Given the description of an element on the screen output the (x, y) to click on. 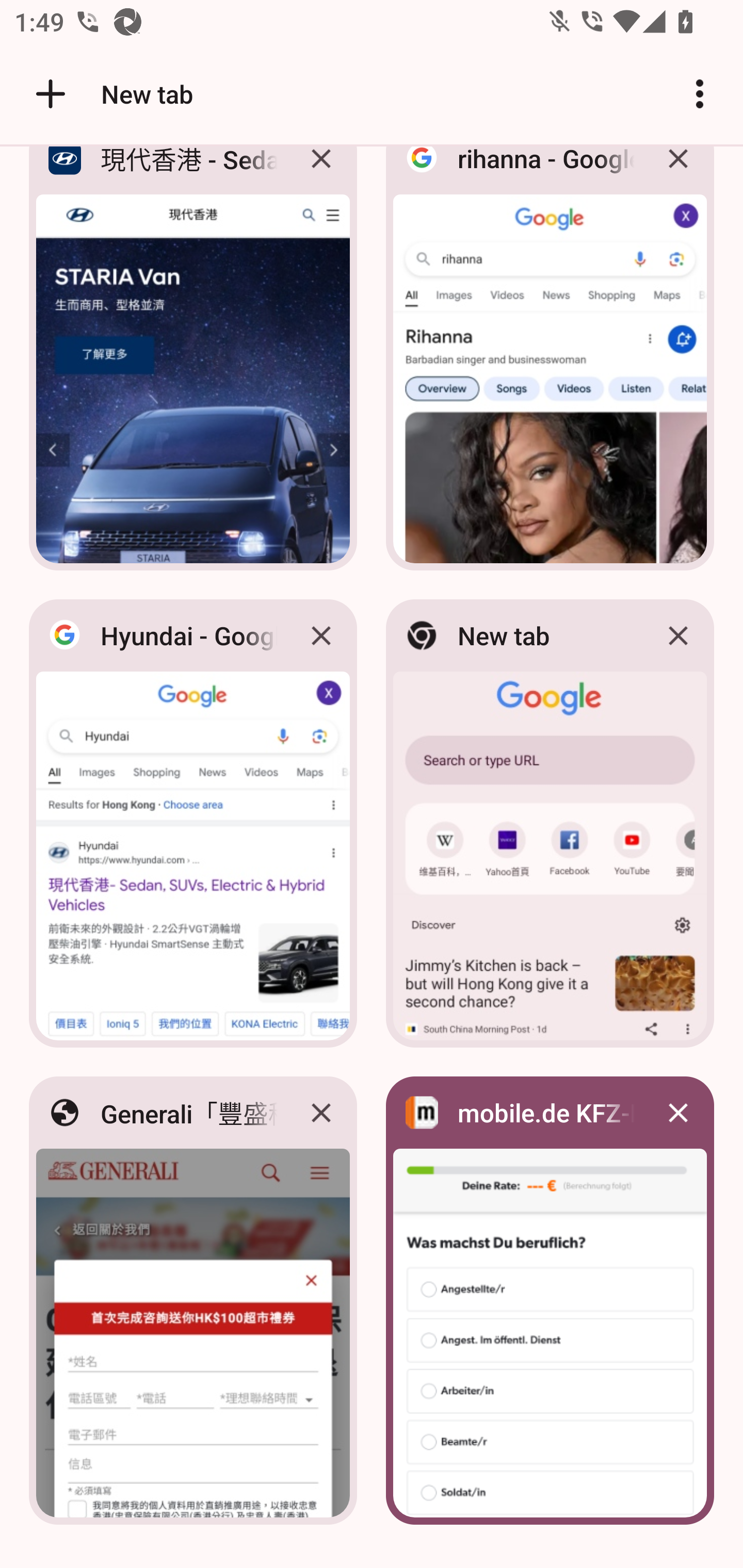
Open the home page (43, 93)
Switch or close tabs (612, 93)
Customize and control Google Chrome (699, 93)
Close rihanna - Google Search tab (677, 173)
New tab New tab, tab Close New tab tab (549, 822)
Close Hyundai - Google Search tab (320, 635)
Close New tab tab (677, 635)
Close Generali「豐盛稅悅保延期年金」- 你計劃退休嘅好拍檔 tab (320, 1112)
